Given the description of an element on the screen output the (x, y) to click on. 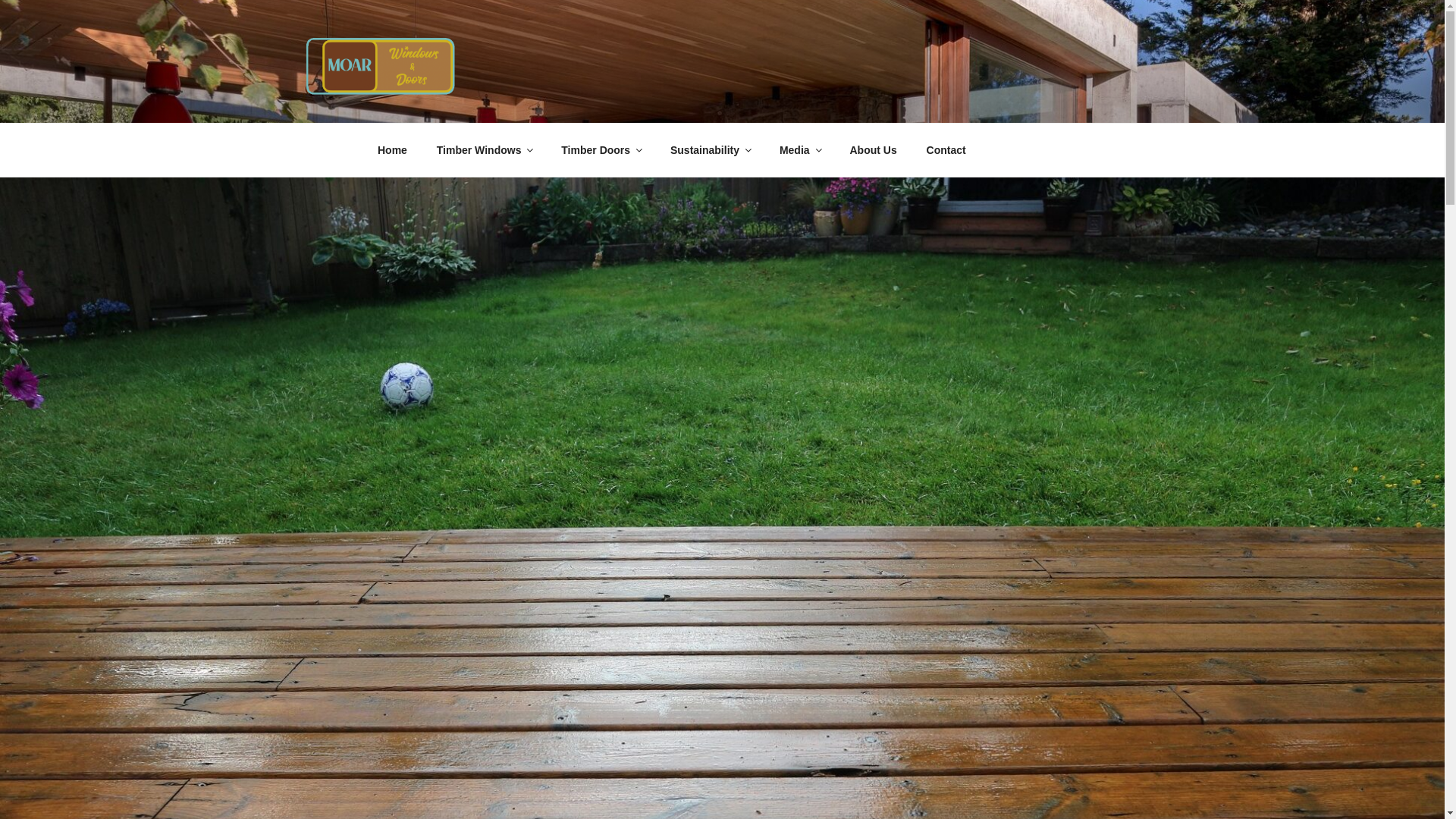
About Us (872, 149)
Timber Windows (483, 149)
Sustainability (709, 149)
Timber Doors (600, 149)
Contact (945, 149)
Home (392, 149)
Media (798, 149)
